Given the description of an element on the screen output the (x, y) to click on. 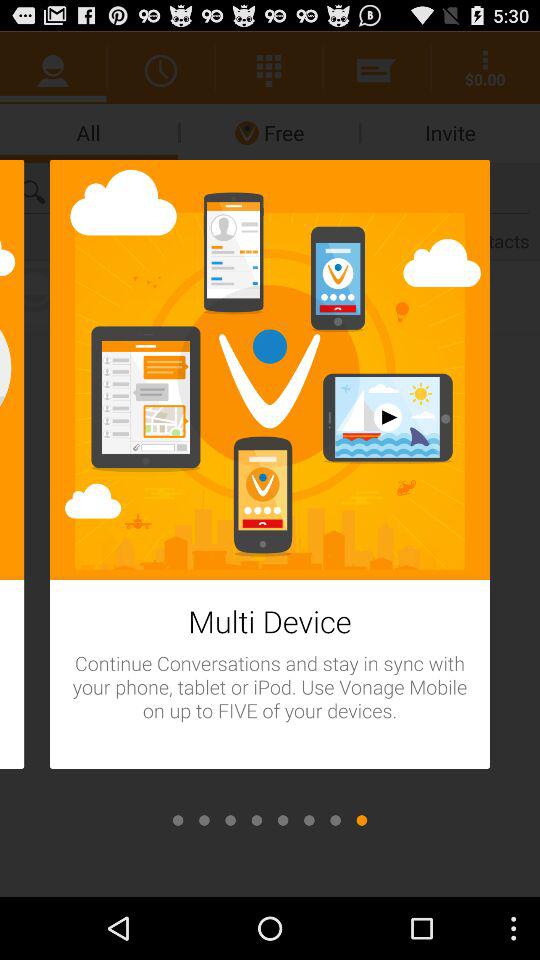
change page (230, 820)
